Given the description of an element on the screen output the (x, y) to click on. 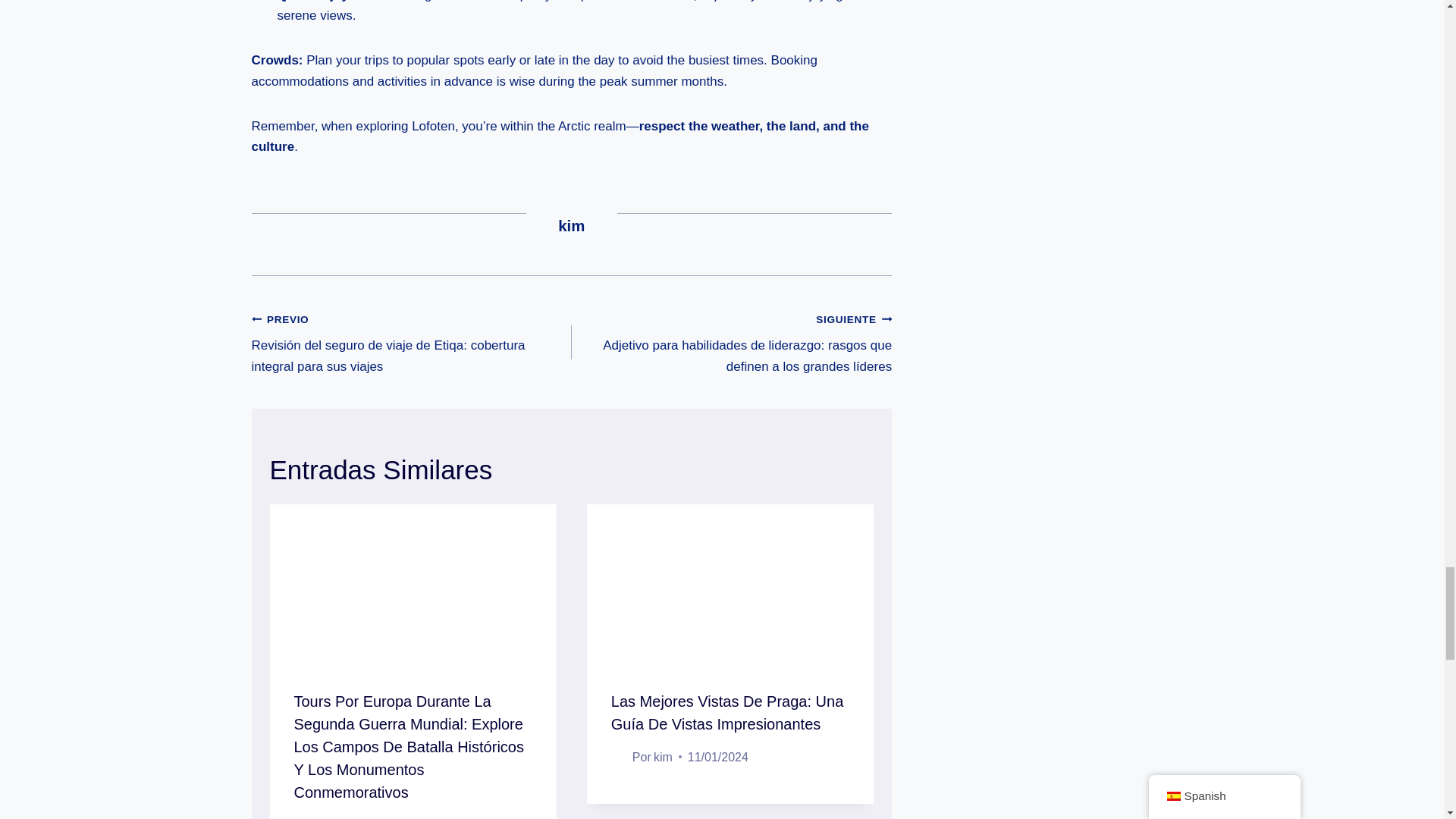
Entradas de Kim (571, 225)
